Given the description of an element on the screen output the (x, y) to click on. 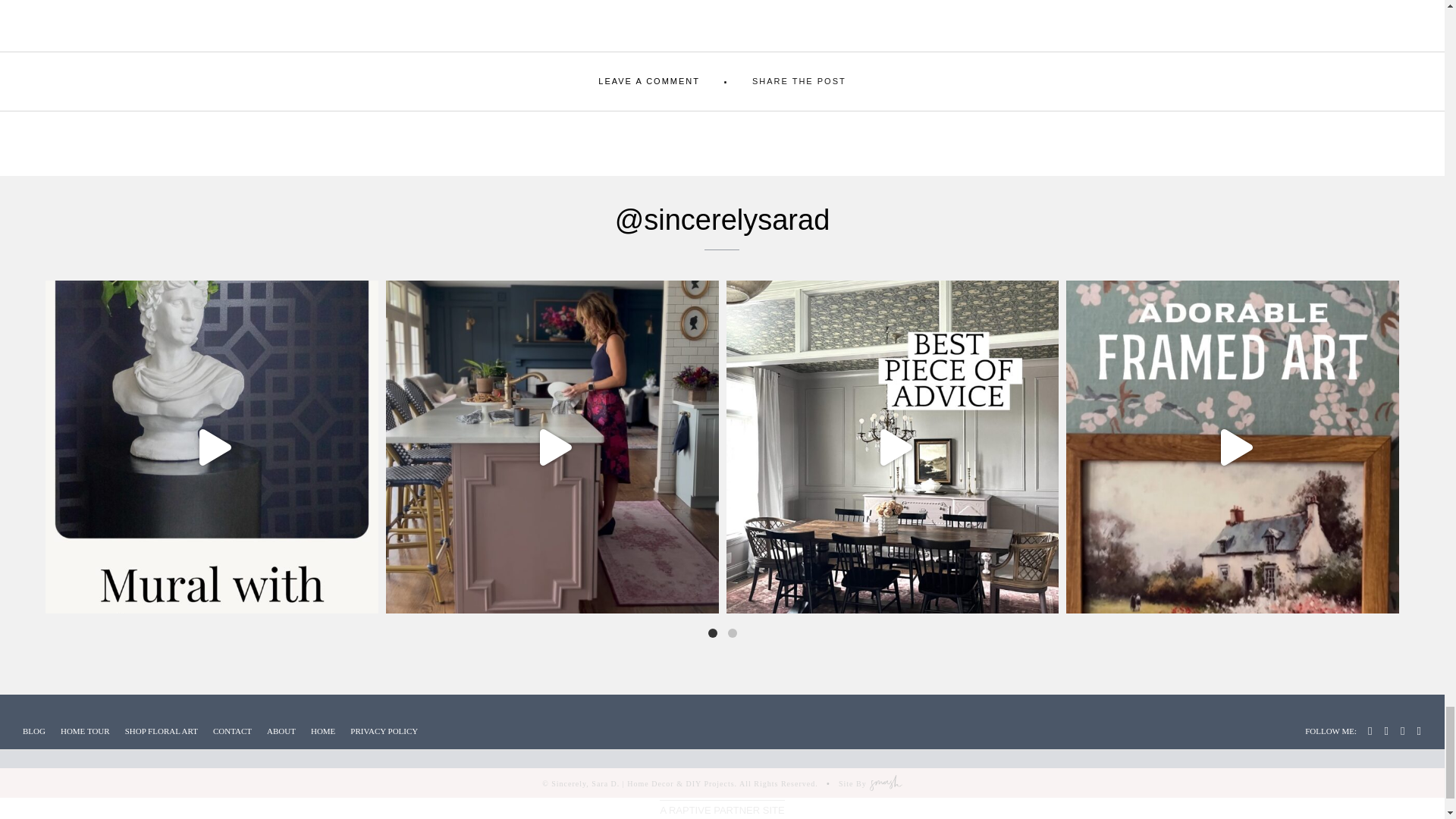
LEAVE A COMMENT (649, 81)
LEAVE A COMMENT (649, 81)
